Given the description of an element on the screen output the (x, y) to click on. 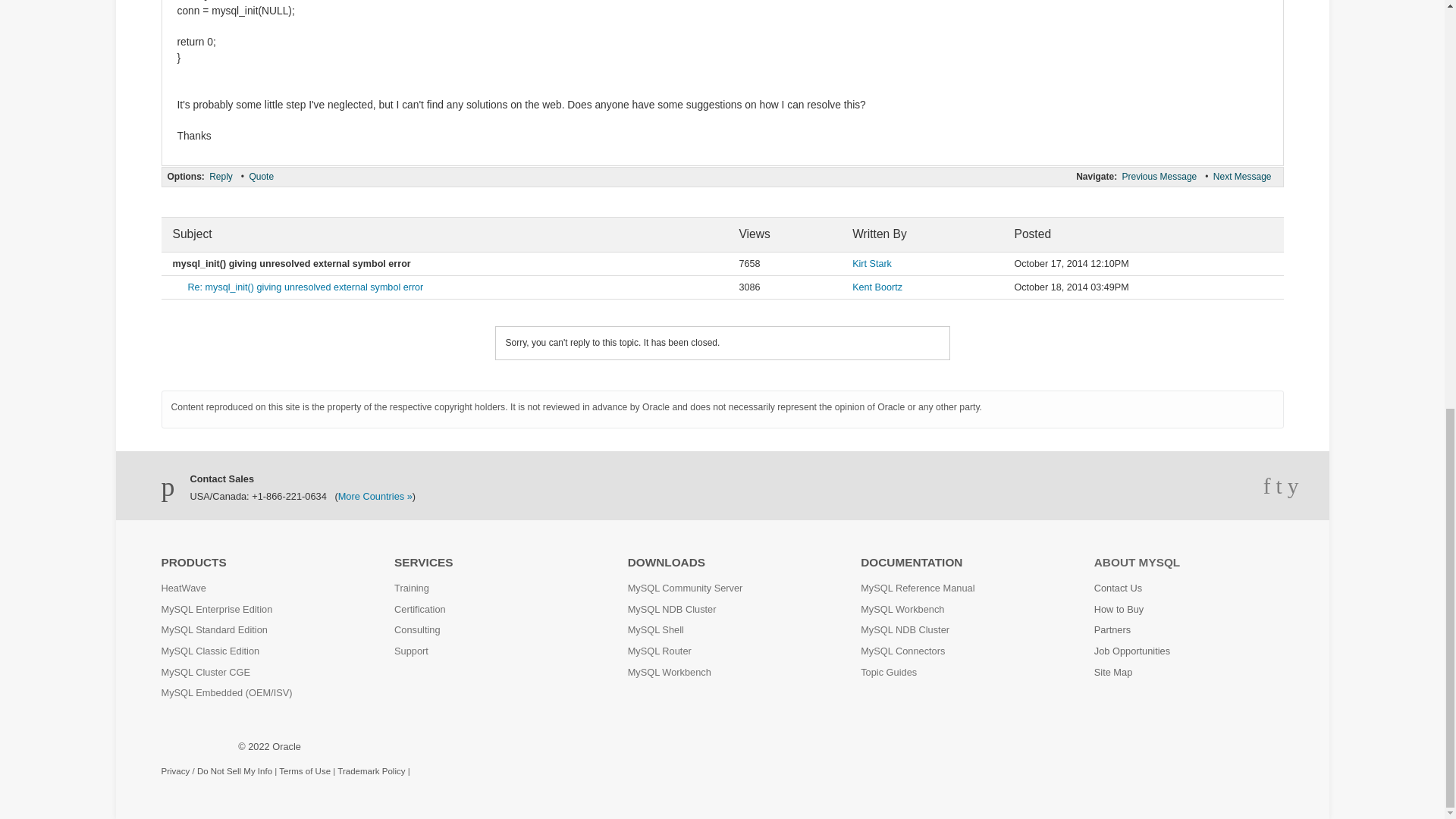
Quote (261, 176)
Kent Boortz (876, 286)
Kirt Stark (871, 263)
Reply (220, 176)
Previous Message (1159, 176)
Next Message (1242, 176)
